Given the description of an element on the screen output the (x, y) to click on. 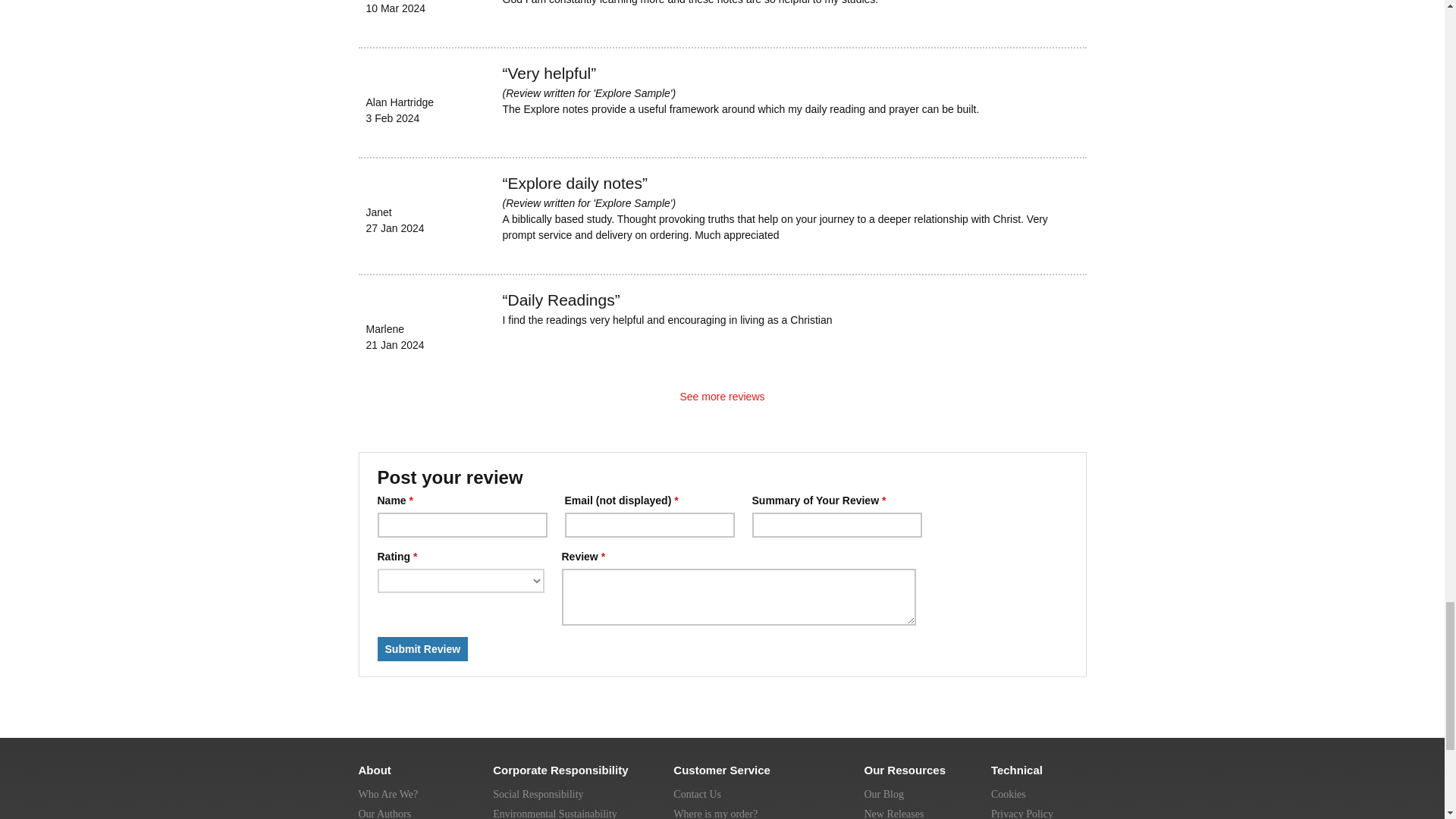
Submit Review (422, 648)
